Given the description of an element on the screen output the (x, y) to click on. 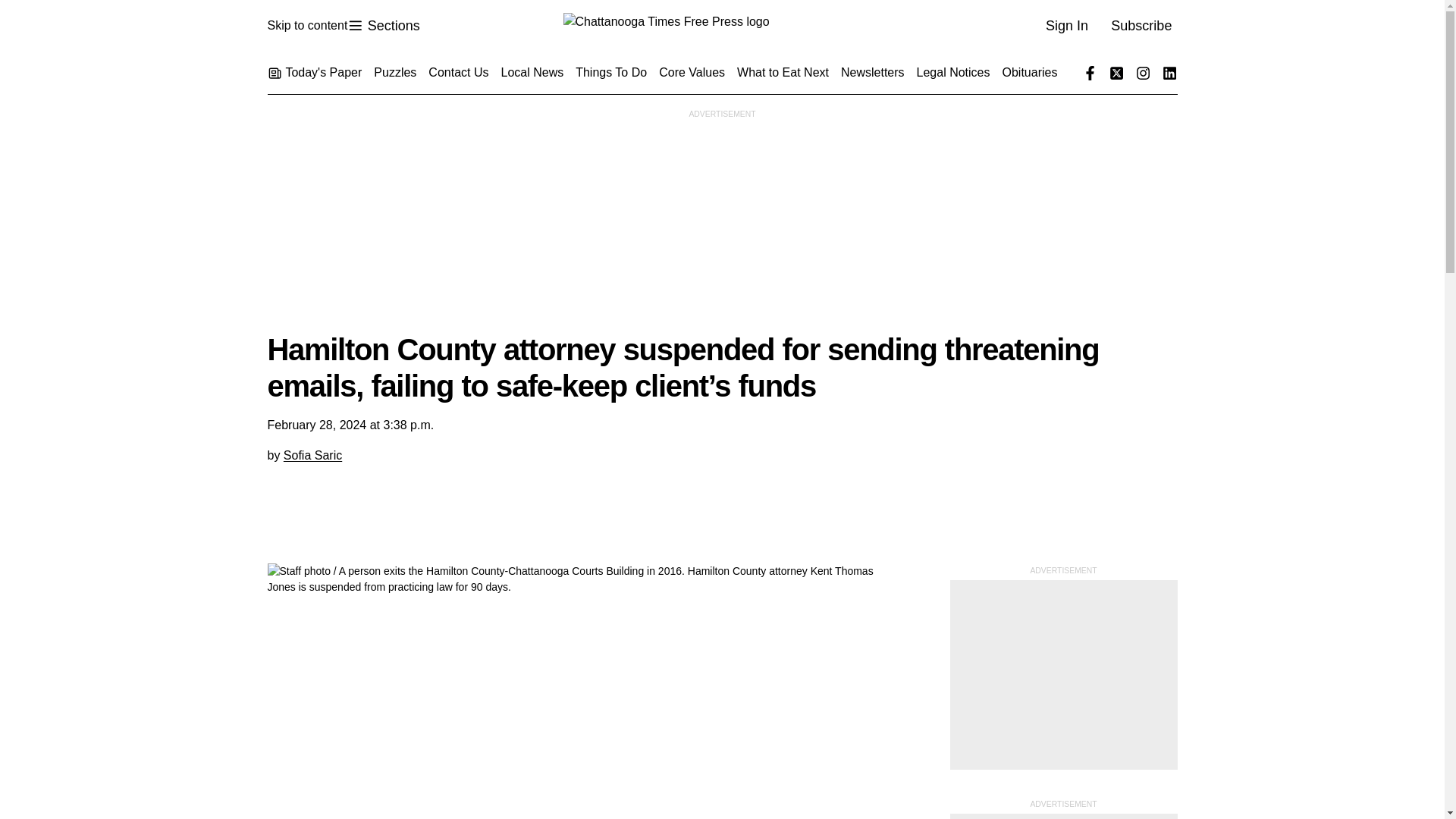
Times Free Press (721, 25)
Skip to content (383, 25)
